Given the description of an element on the screen output the (x, y) to click on. 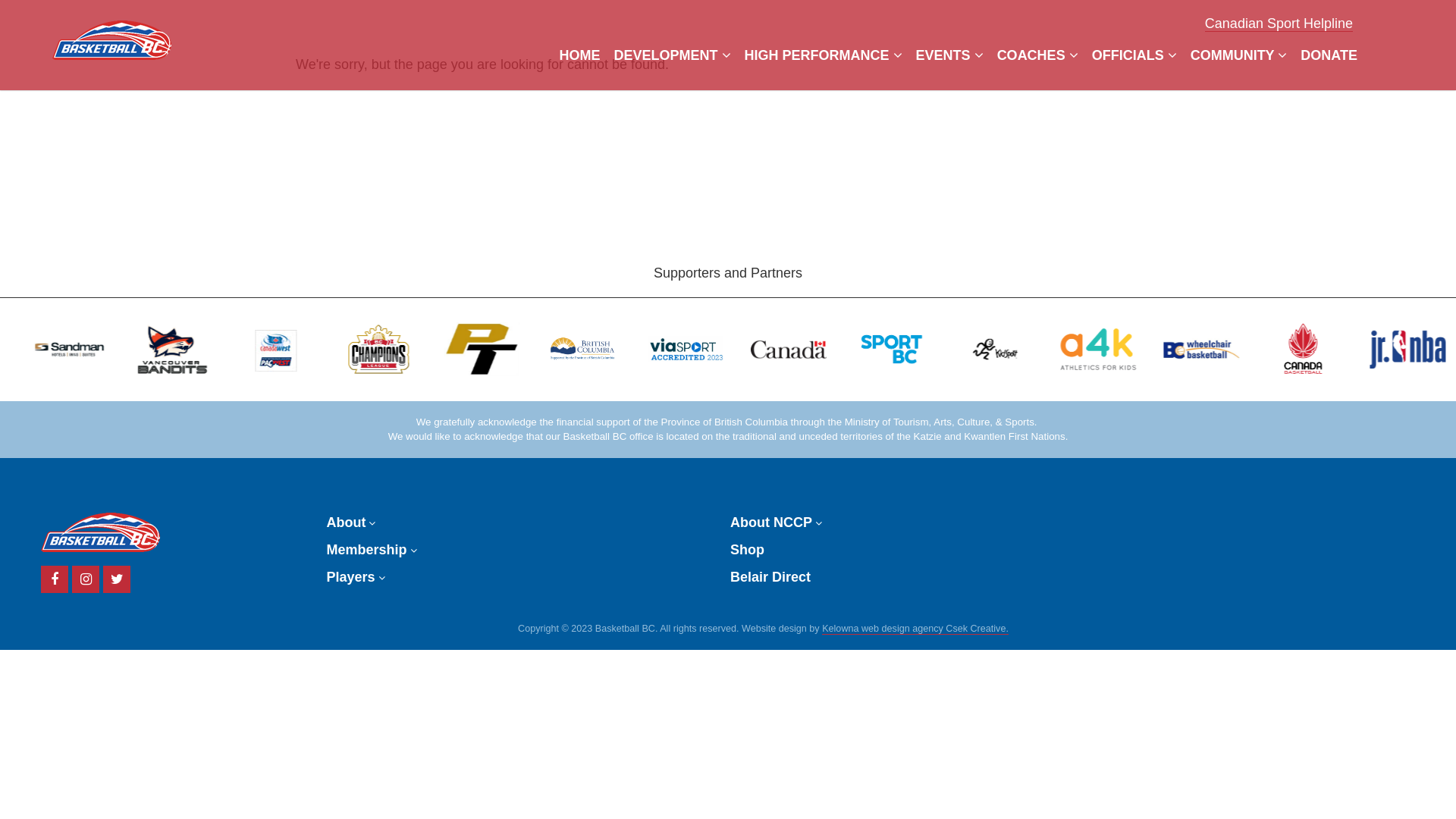
Canadian Sport Helpline Element type: text (1278, 23)
COMMUNITY Element type: text (1238, 55)
Facebook Account Element type: text (54, 578)
Government of Canada Element type: hover (805, 349)
viaSport Element type: hover (702, 348)
BC Wheelchair Basketball Element type: hover (1213, 349)
HIGH PERFORMANCE Element type: text (823, 55)
Kelowna web design agency Csek Creative. Element type: text (915, 628)
Twitter Account Element type: text (116, 578)
Instagram Account Element type: text (85, 578)
CanWest/PacWest Element type: hover (296, 348)
Champions League Element type: hover (398, 348)
Belair Direct Element type: text (770, 576)
Shop Element type: text (747, 549)
Athletics4Kids Element type: hover (1111, 349)
EVENTS Element type: text (949, 55)
DONATE Element type: text (1328, 55)
OFFICIALS Element type: text (1134, 55)
Government of BC Element type: hover (600, 349)
DEVELOPMENT Element type: text (672, 55)
Basketball BC Element type: hover (111, 36)
Basketball BC Element type: hover (100, 532)
Kidsport Element type: hover (1009, 349)
Vancouver Bandits Element type: hover (194, 348)
HOME Element type: text (579, 55)
Canada Basketball Element type: hover (1315, 348)
Sandman Element type: hover (92, 348)
Primetime Element type: hover (500, 349)
COACHES Element type: text (1037, 55)
Jr NBA Element type: hover (1417, 348)
Sport BC Element type: hover (907, 348)
